Given the description of an element on the screen output the (x, y) to click on. 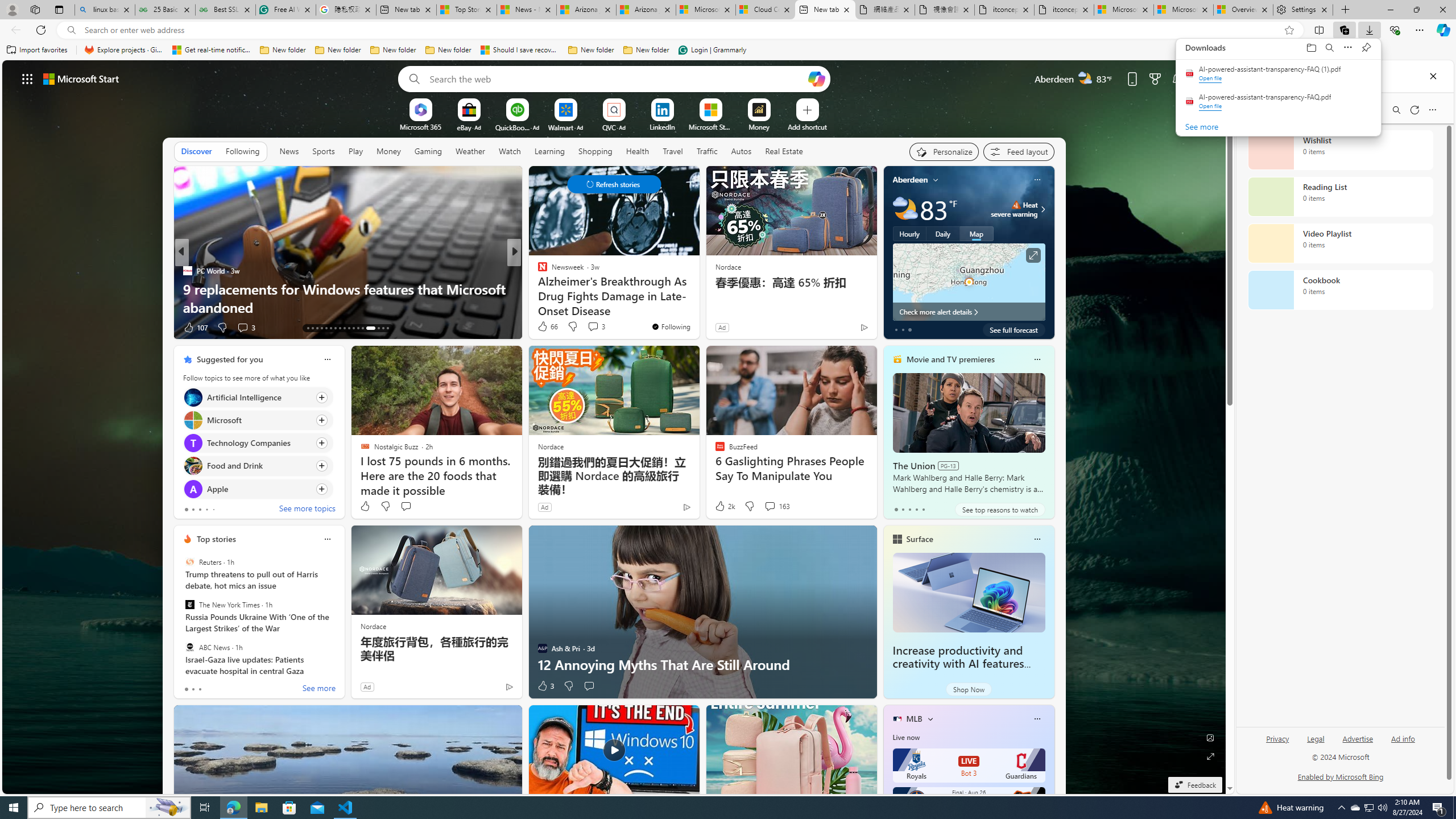
Import favorites (36, 49)
Heat - Severe Heat severe warning (1014, 208)
Cookbook collection, 0 items (1339, 289)
9 replacements for Windows features that Microsoft abandoned (347, 298)
Learning (549, 151)
Watch (509, 151)
Pin downloads (1366, 47)
Personalize your feed" (943, 151)
You're following The Weather Channel (143, 329)
AutomationID: tab-16 (321, 328)
You're following Newsweek (670, 326)
